Given the description of an element on the screen output the (x, y) to click on. 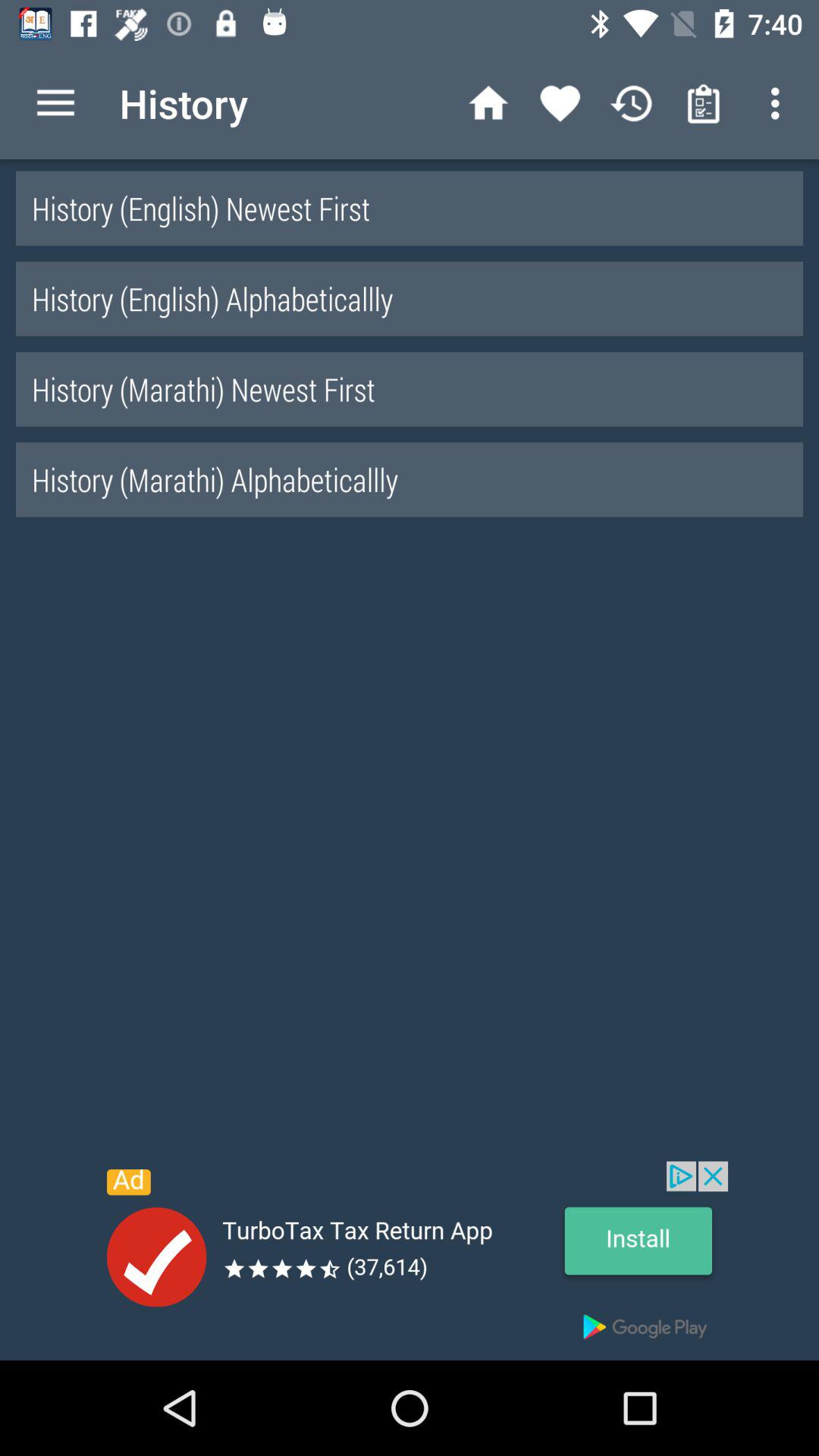
click the home icon left to heart icon (488, 103)
click on the first button from top right (779, 103)
select the second last line text at bottom of the page (409, 389)
click on the icon left to the 3 vertical dots at the top right corner of the web page (703, 103)
click on history english alphabetically (409, 299)
click on the icon right of heart symbol (632, 103)
